Given the description of an element on the screen output the (x, y) to click on. 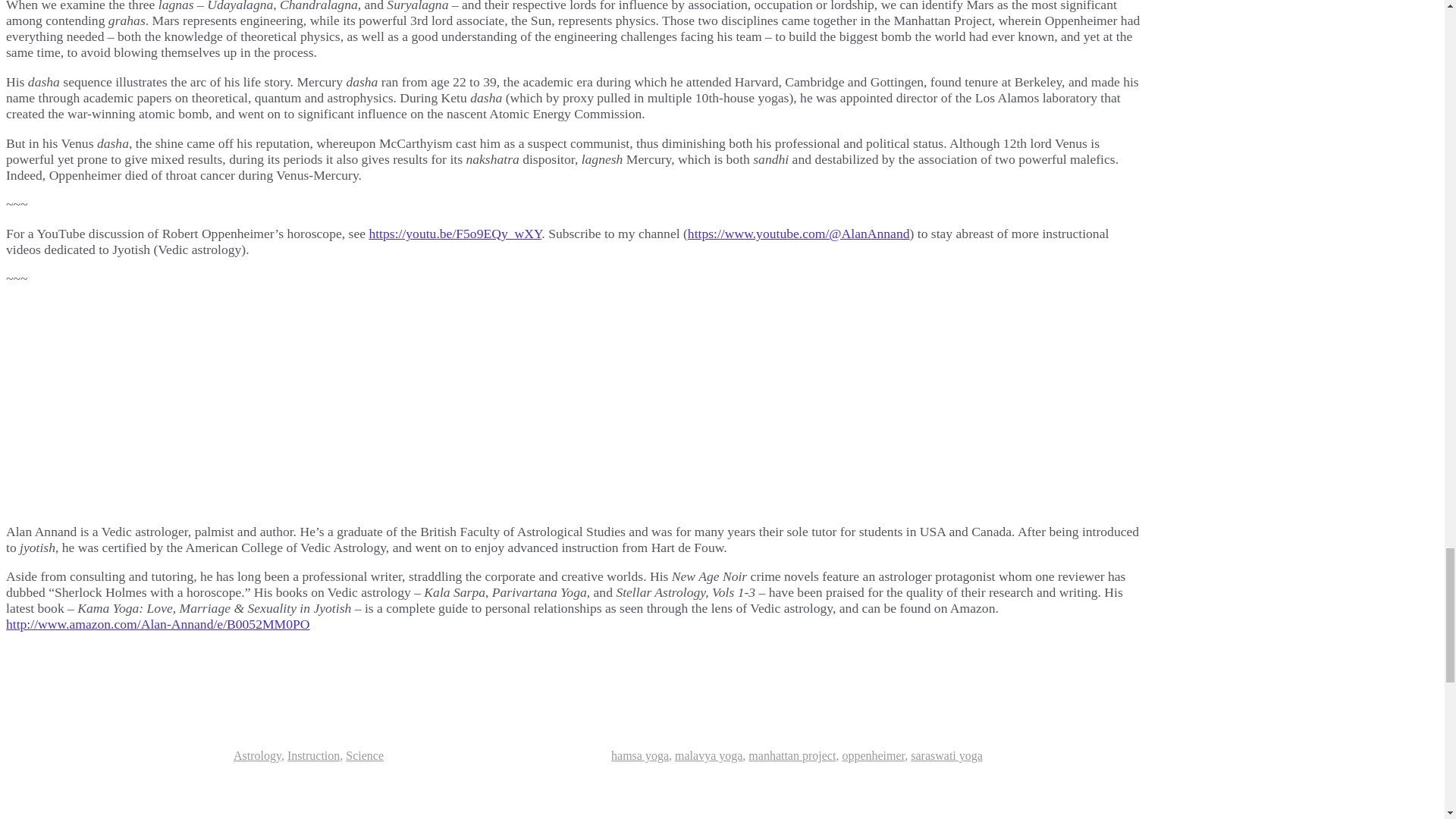
Instruction (312, 755)
saraswati yoga (946, 755)
oppenheimer (872, 755)
Astrology (256, 755)
hamsa yoga (639, 755)
malavya yoga (708, 755)
manhattan project (791, 755)
Science (365, 755)
